Given the description of an element on the screen output the (x, y) to click on. 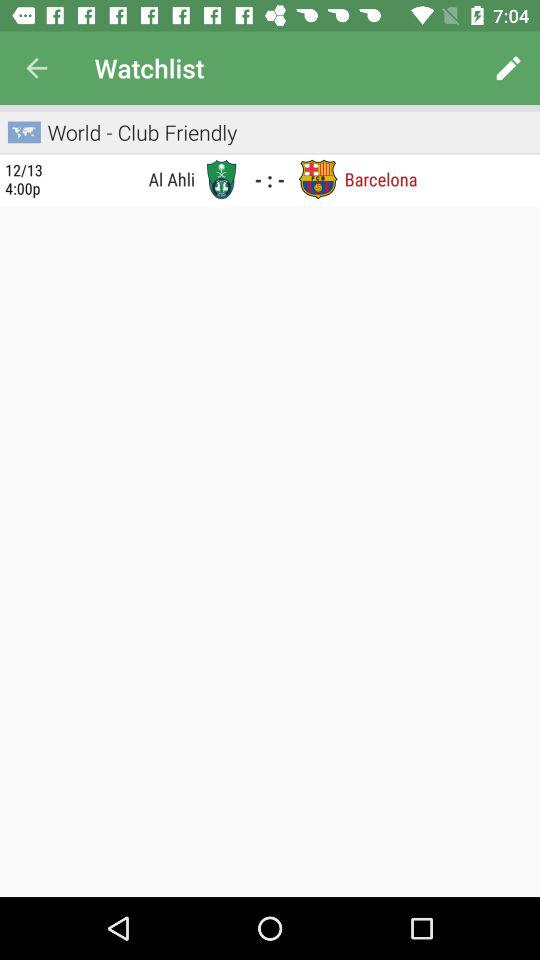
flip until 12 13 4 (24, 179)
